Given the description of an element on the screen output the (x, y) to click on. 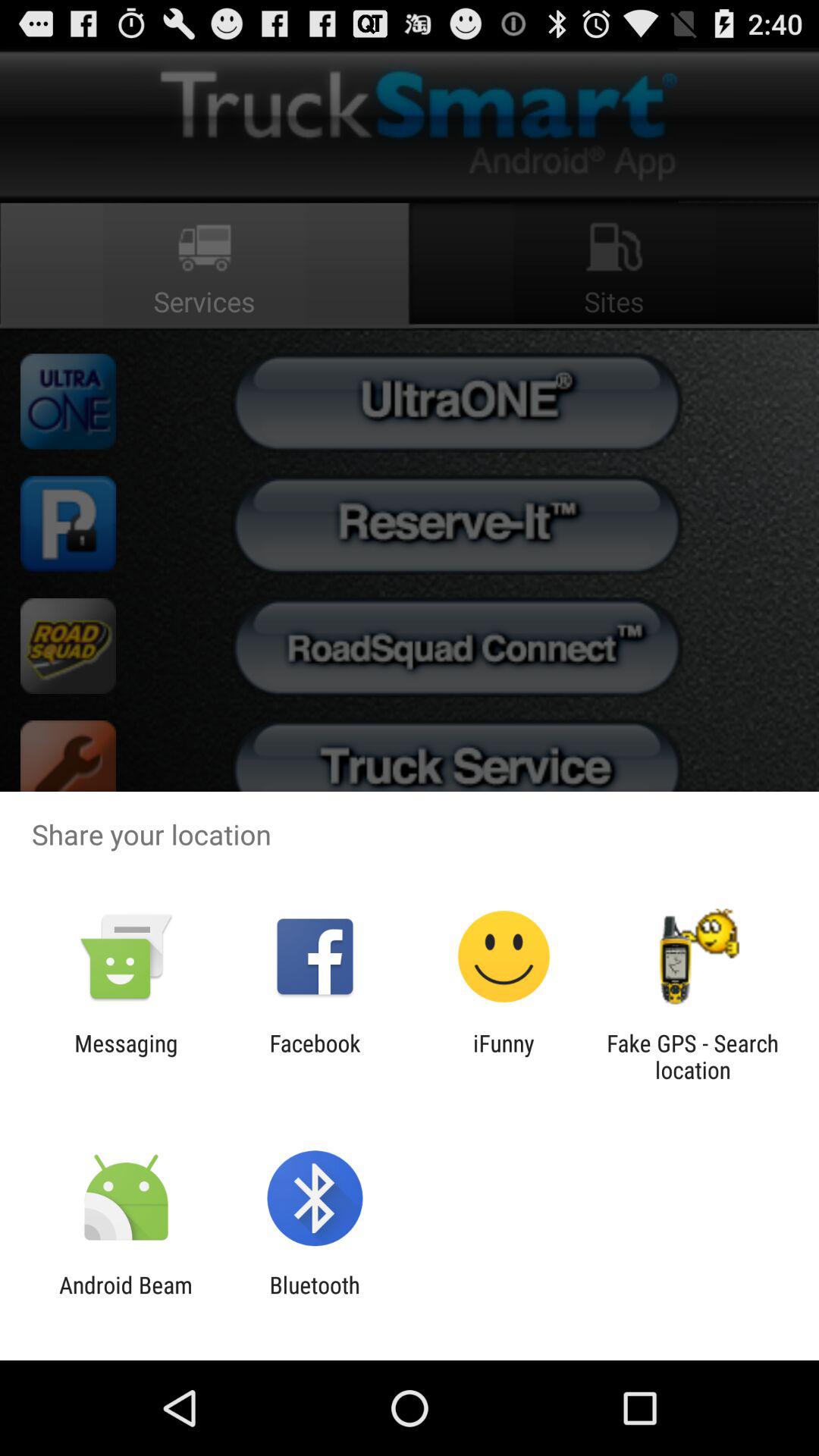
tap the facebook item (314, 1056)
